Given the description of an element on the screen output the (x, y) to click on. 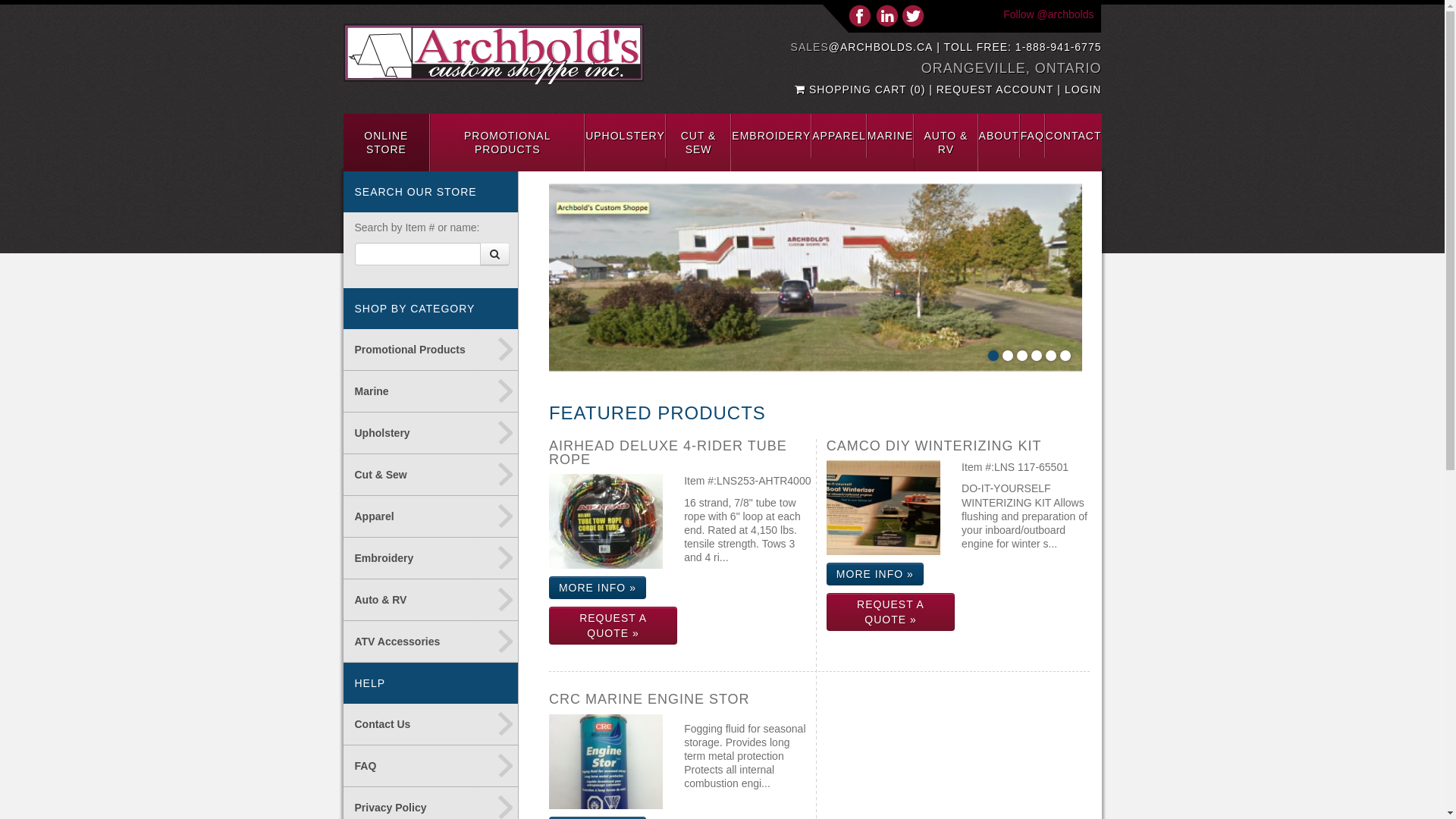
Auto & RV Element type: text (429, 600)
Upholstery Element type: text (429, 433)
Cut & Sew Element type: text (429, 474)
PROMOTIONAL PRODUCTS Element type: text (506, 142)
CONTACT Element type: text (1072, 135)
APPAREL Element type: text (838, 135)
Marine Element type: text (429, 391)
SHOPPING CART (0) Element type: text (861, 89)
REQUEST ACCOUNT Element type: text (995, 89)
Archbold Custom Shoppe Online Store Element type: hover (815, 277)
AirHead Deluxe 4-Rider Tube Rope Element type: hover (605, 520)
CRC Marine Engine STOR Element type: hover (605, 761)
Embroidery Element type: text (429, 558)
CAMCO DIY Winterizing Kit Element type: hover (883, 507)
Follow @archbolds Element type: text (1048, 14)
UPHOLSTERY Element type: text (624, 135)
SALES@ARCHBOLDS.CA Element type: text (861, 46)
EMBROIDERY Element type: text (771, 135)
Like us on Facebook Element type: hover (859, 15)
AUTO & RV Element type: text (945, 142)
Contact Us Element type: text (429, 724)
ONLINE STORE Element type: text (385, 142)
Promotional Products Element type: text (429, 349)
Archbold Custom Shoppe Element type: hover (492, 54)
FAQ Element type: text (429, 766)
ABOUT Element type: text (998, 135)
Apparel Element type: text (429, 516)
Find us on LinkedIn Element type: hover (886, 15)
MARINE Element type: text (889, 135)
Follow us on Twitter Element type: hover (913, 15)
LOGIN Element type: text (1082, 89)
ATV Accessories Element type: text (429, 641)
FAQ Element type: text (1031, 135)
CUT & SEW Element type: text (698, 142)
